Given the description of an element on the screen output the (x, y) to click on. 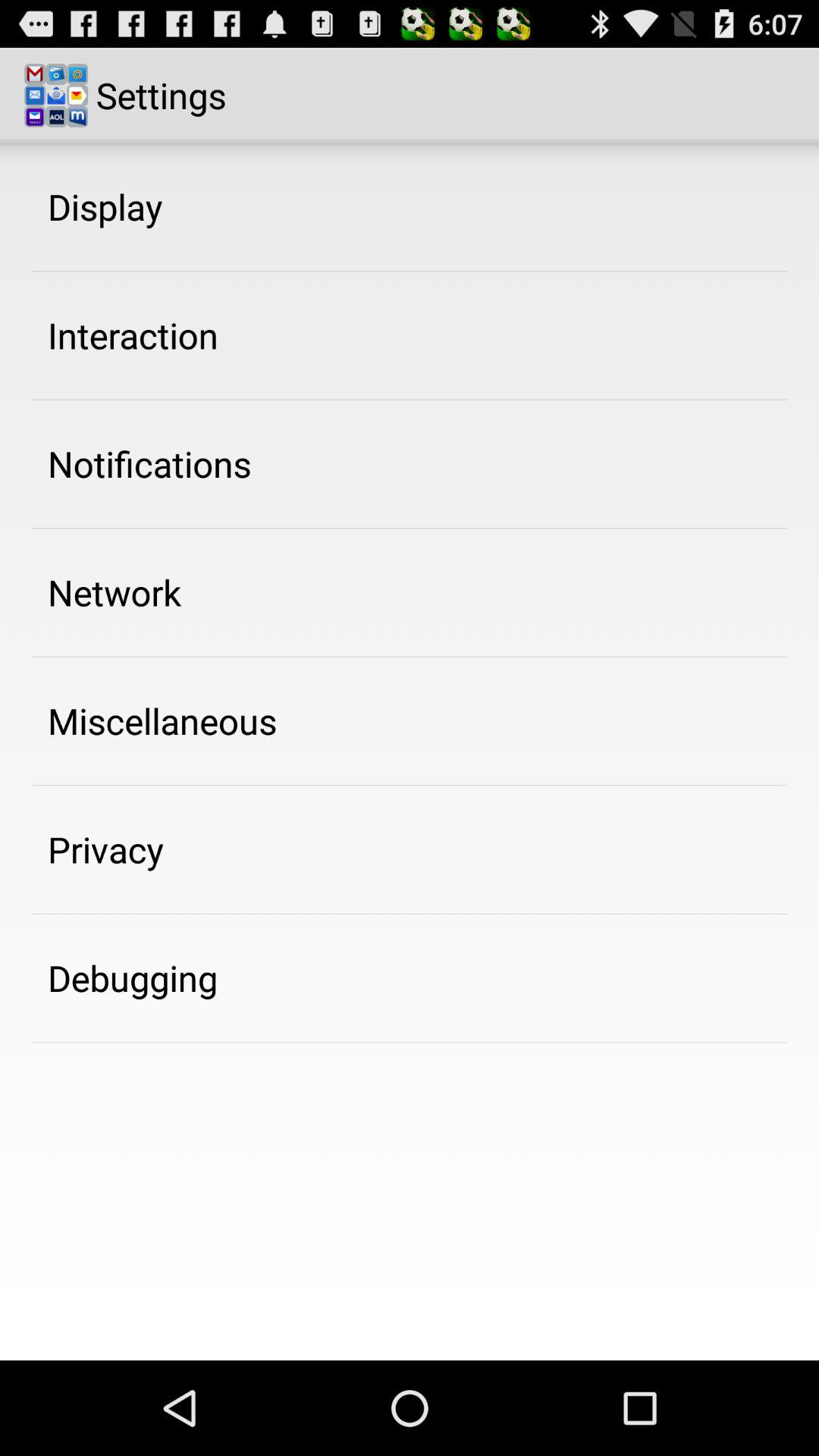
flip to the display item (104, 206)
